Given the description of an element on the screen output the (x, y) to click on. 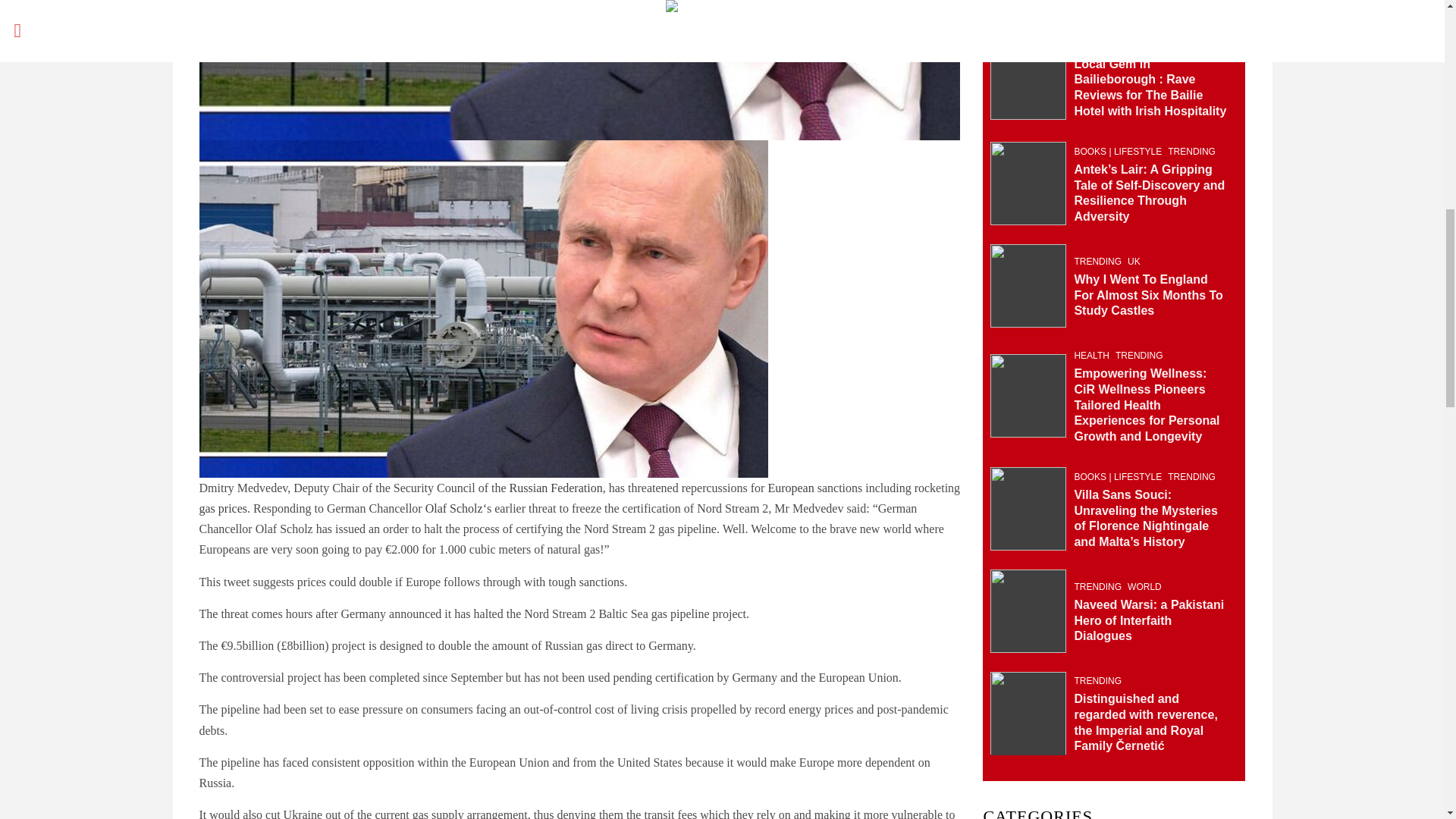
Russian Federation (555, 487)
Olaf Scholz (454, 508)
gas prices (222, 508)
European (790, 487)
